Given the description of an element on the screen output the (x, y) to click on. 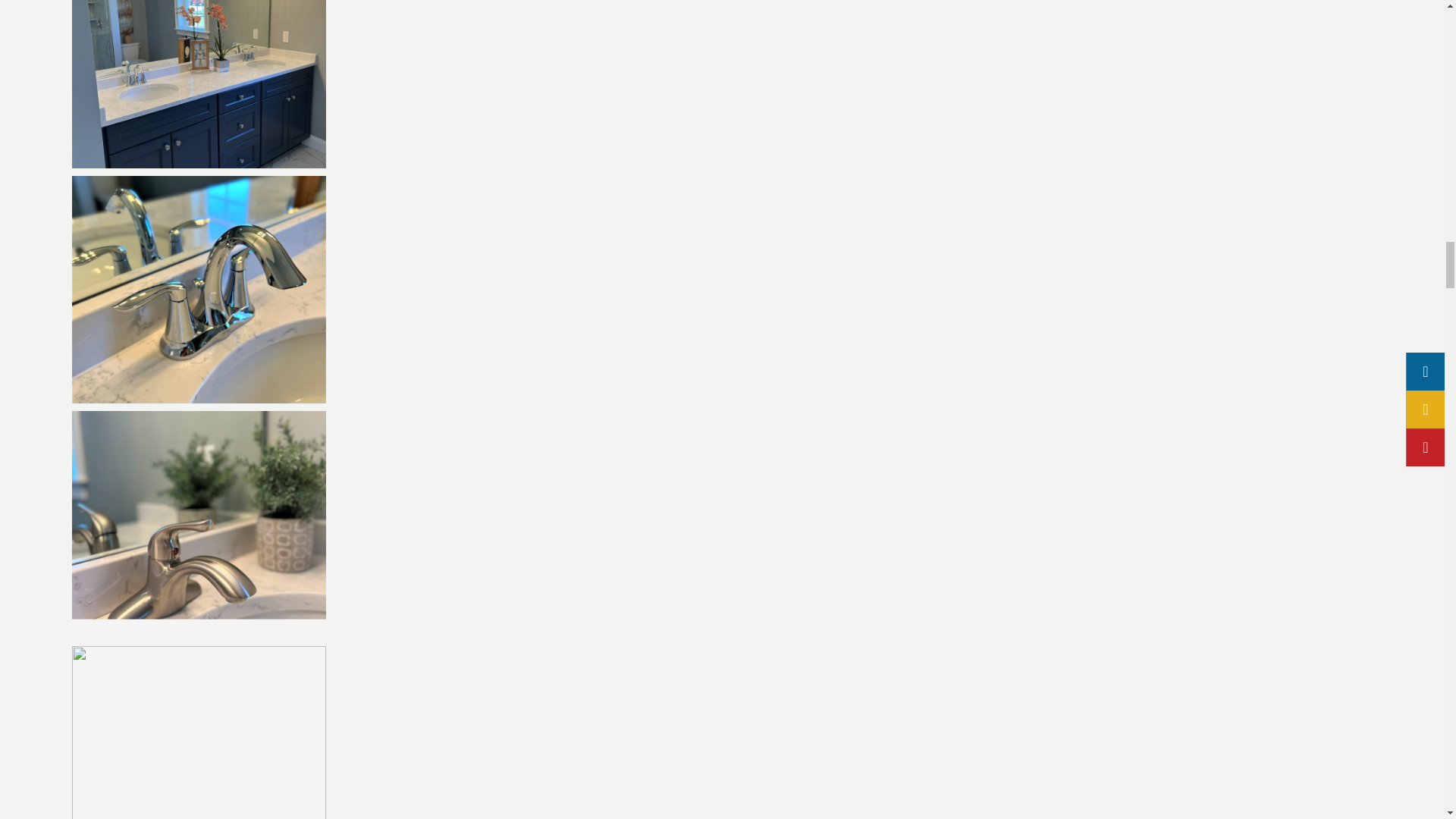
IMG-4226 (198, 732)
IMG-4224 (198, 524)
Bathroom faucet (198, 84)
IMG-4199 (198, 289)
